Given the description of an element on the screen output the (x, y) to click on. 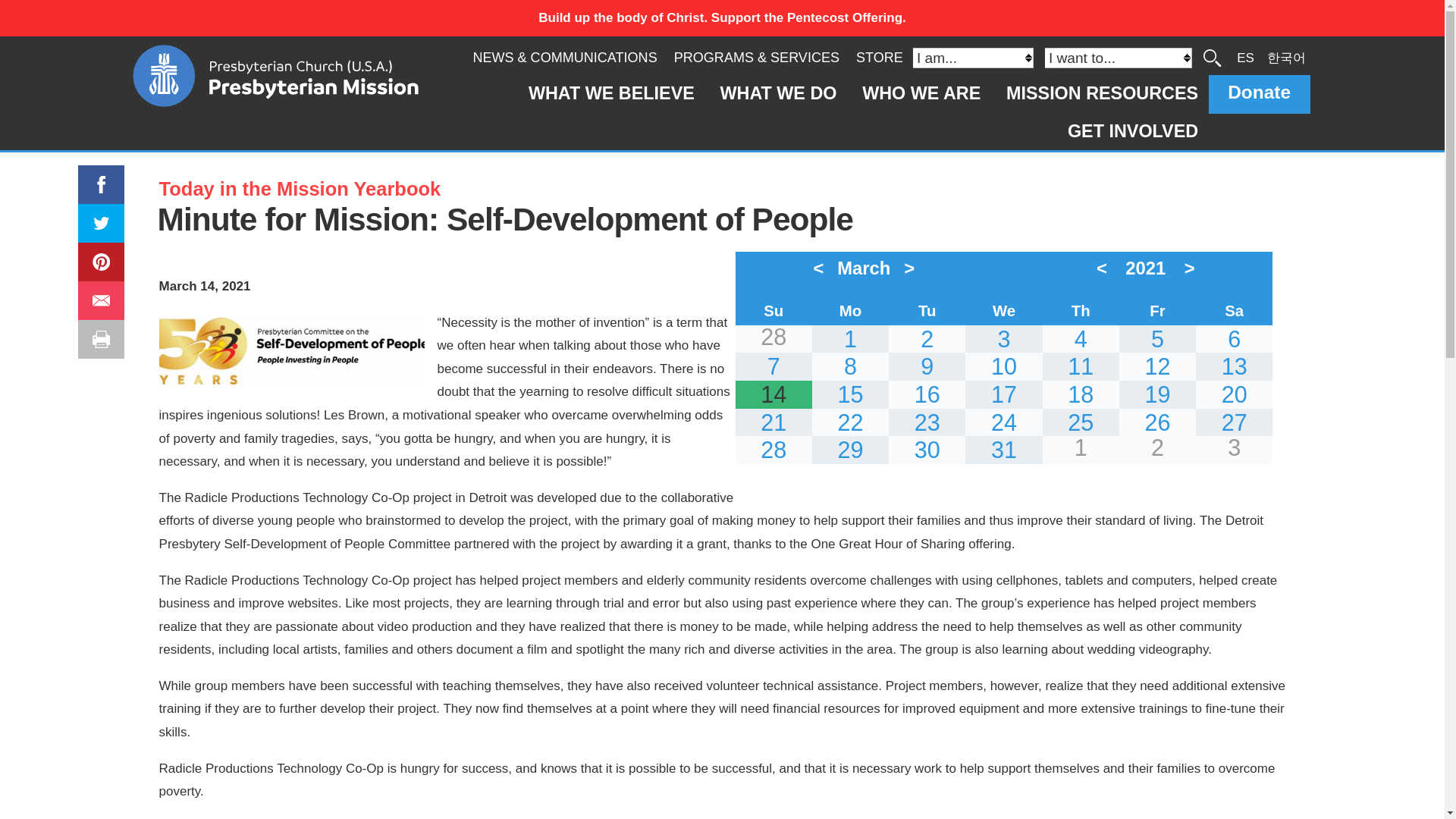
Pin It (96, 253)
Build up the body of Christ. Support the Pentecost Offering. (721, 17)
Share via Email (103, 300)
Share on Twitter (98, 214)
STORE (879, 57)
Print this page (103, 339)
Share on Facebook (92, 175)
Last Year (1104, 267)
